Given the description of an element on the screen output the (x, y) to click on. 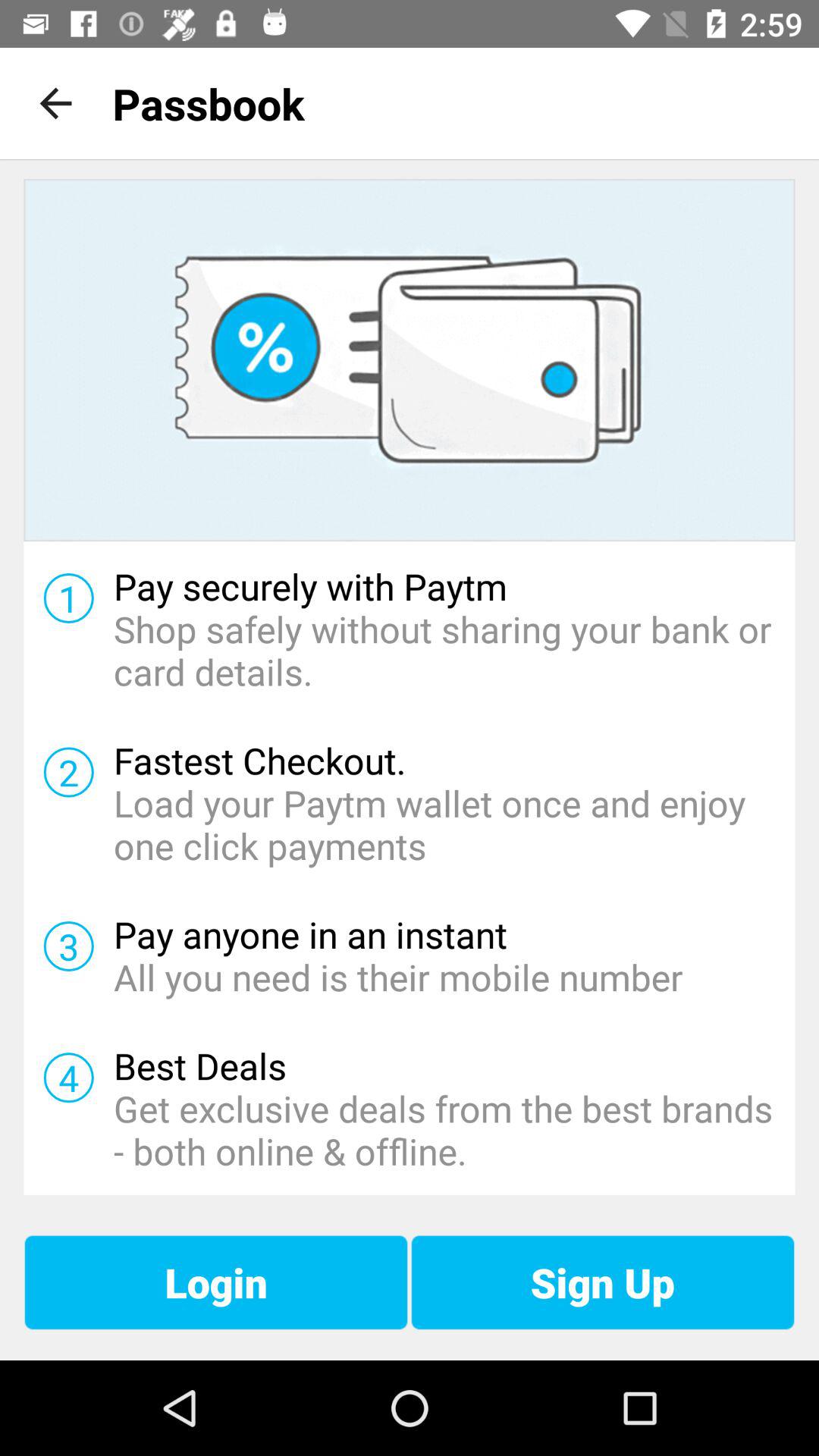
choose item to the left of sign up (215, 1282)
